Given the description of an element on the screen output the (x, y) to click on. 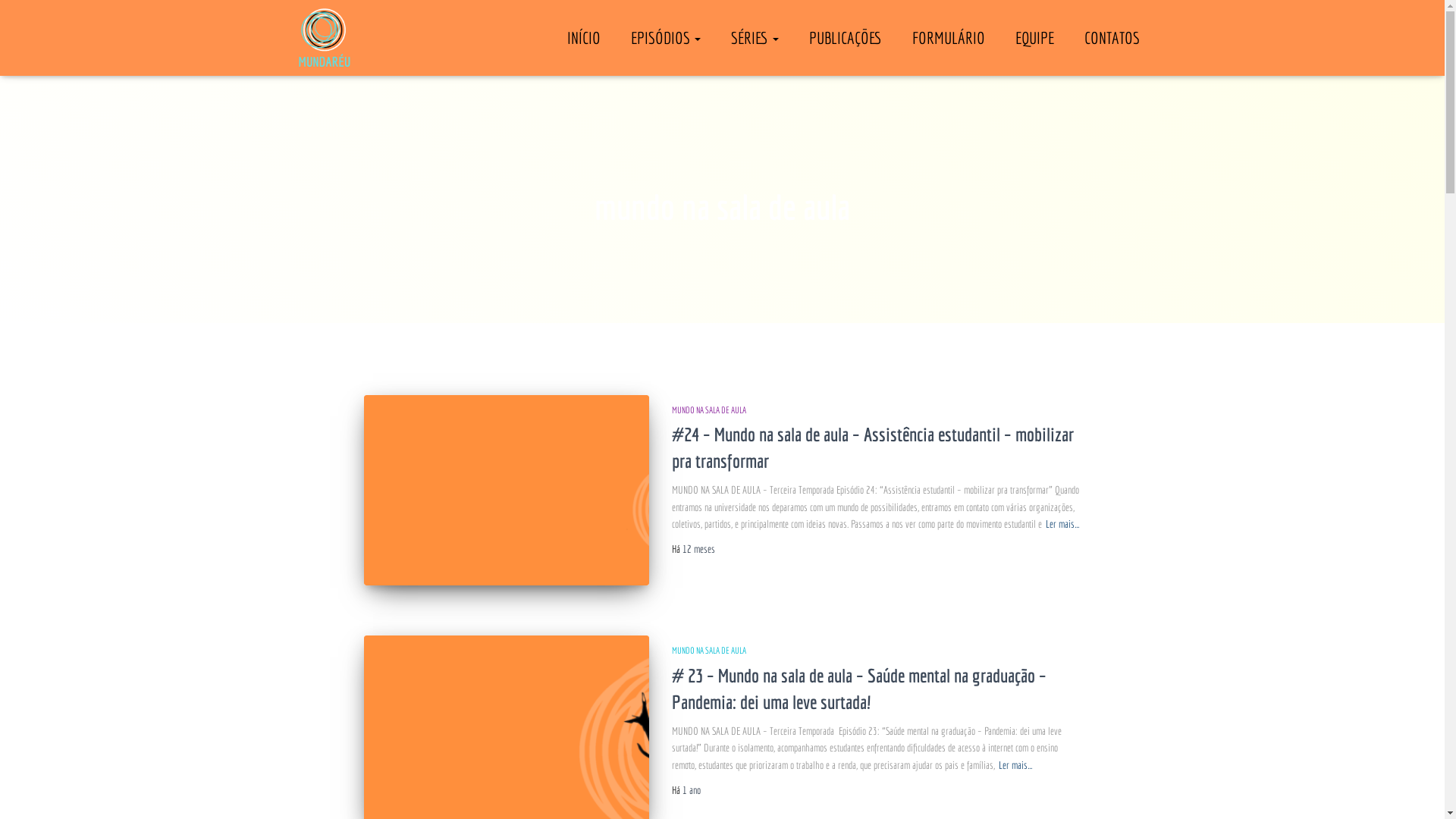
CONTATOS Element type: text (1111, 37)
EQUIPE Element type: text (1033, 37)
1 ano Element type: text (691, 790)
12 meses Element type: text (698, 548)
MUNDO NA SALA DE AULA Element type: text (708, 650)
MUNDO NA SALA DE AULA Element type: text (708, 409)
